Given the description of an element on the screen output the (x, y) to click on. 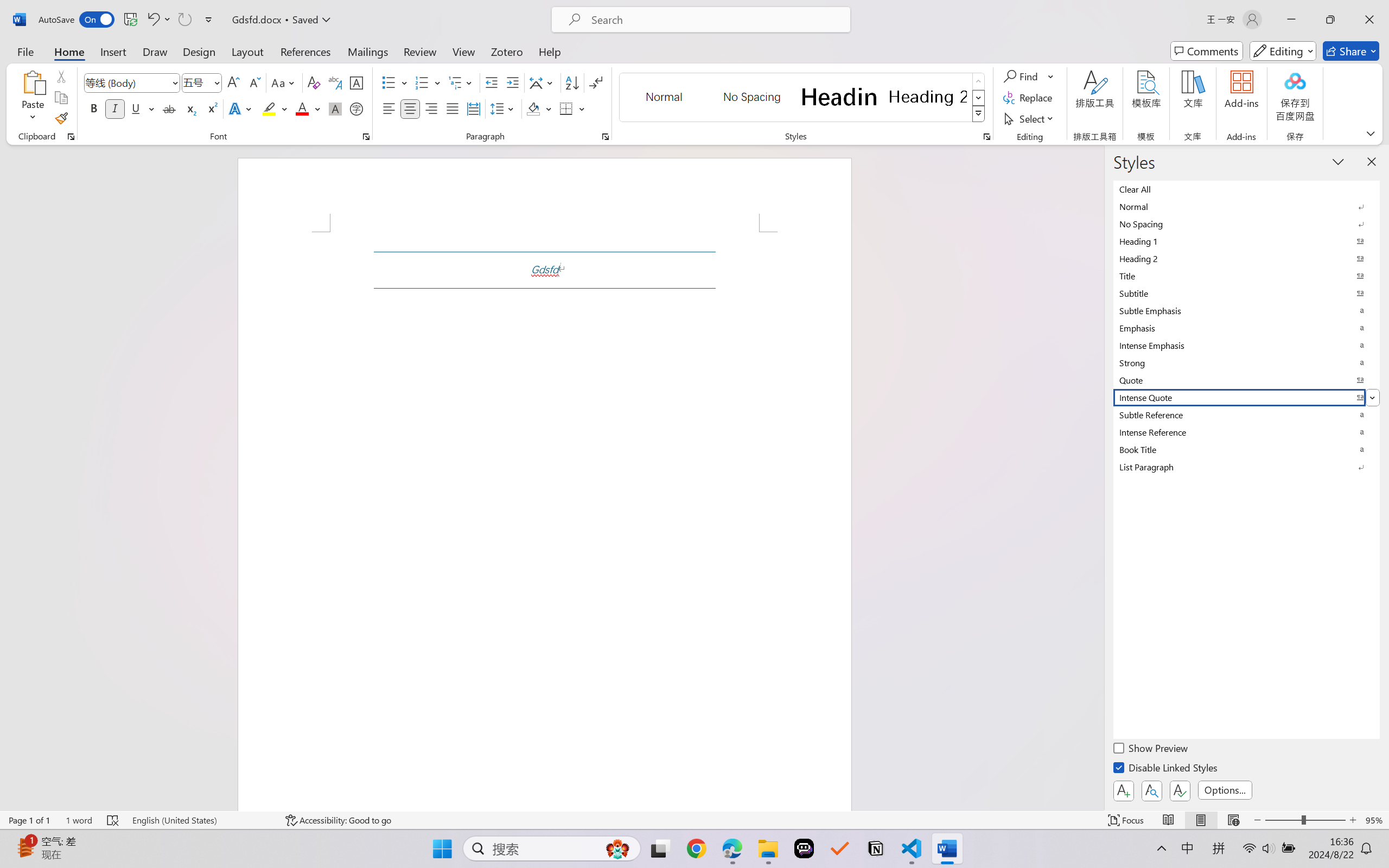
Bold (94, 108)
Center (409, 108)
Character Shading (334, 108)
Office Clipboard... (70, 136)
Strikethrough (169, 108)
Character Border (356, 82)
